Given the description of an element on the screen output the (x, y) to click on. 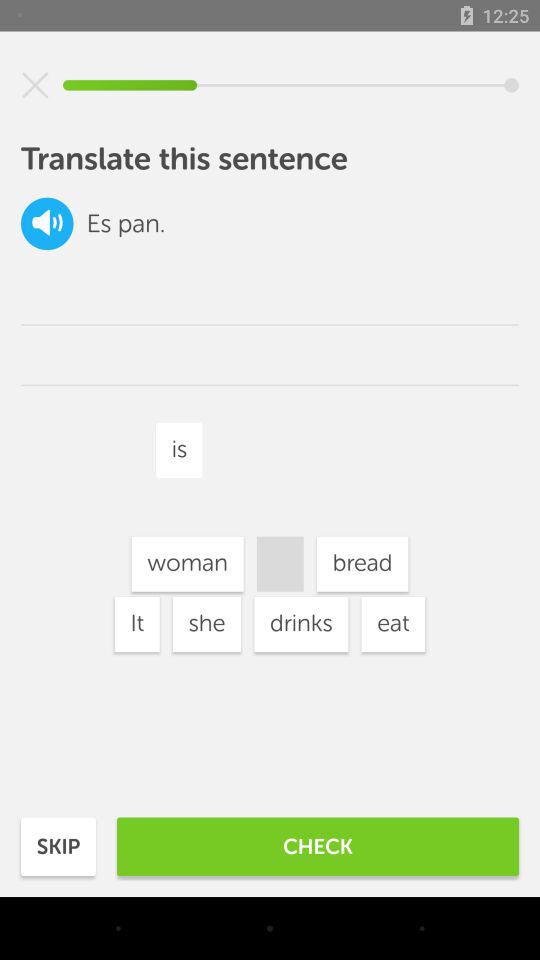
turn off the item to the right of the is icon (362, 563)
